Given the description of an element on the screen output the (x, y) to click on. 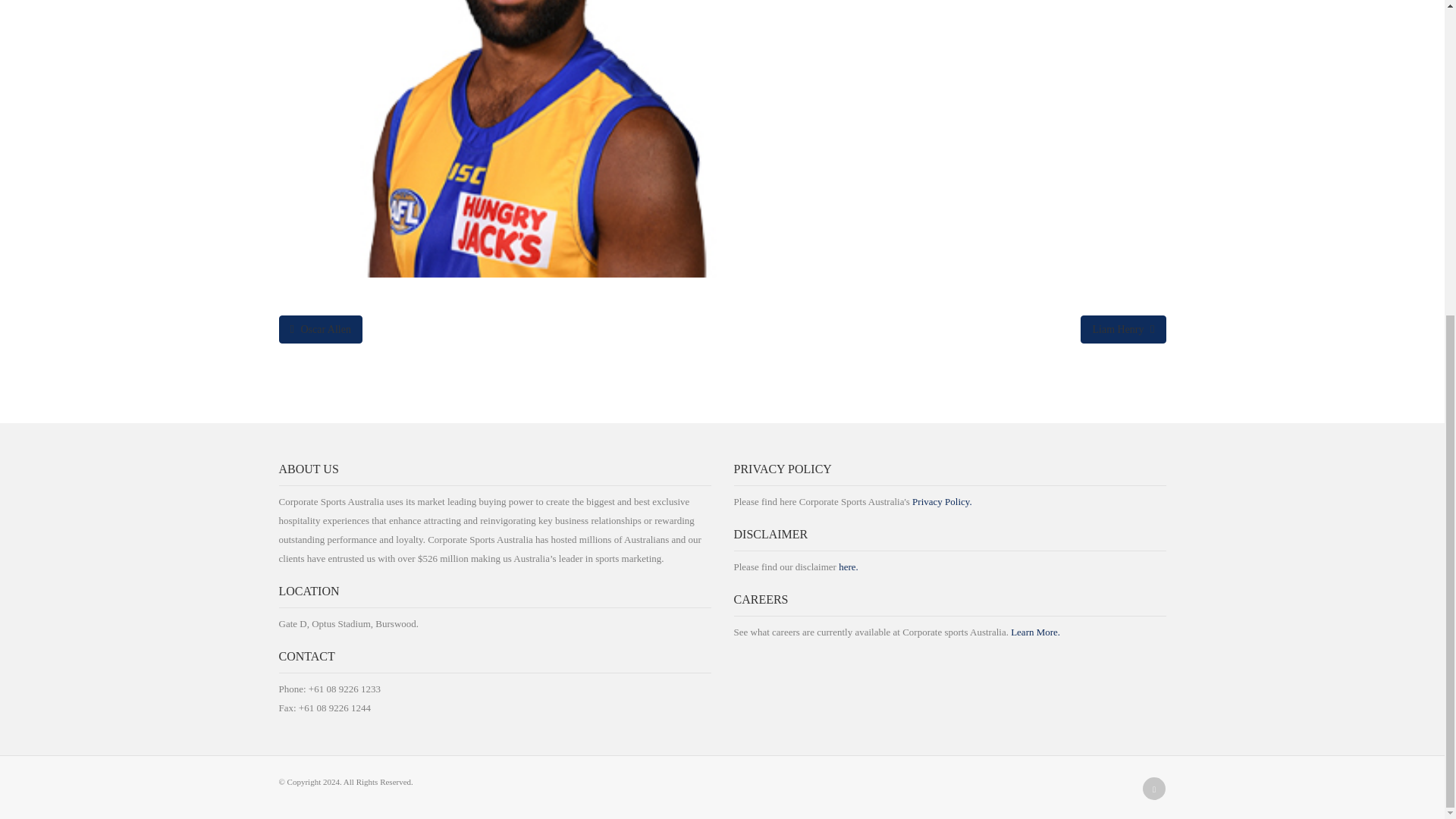
Privacy Policy. (942, 501)
here. (848, 566)
Oscar Allen (320, 329)
Learn More. (1034, 632)
Liam Henry (1123, 329)
